Given the description of an element on the screen output the (x, y) to click on. 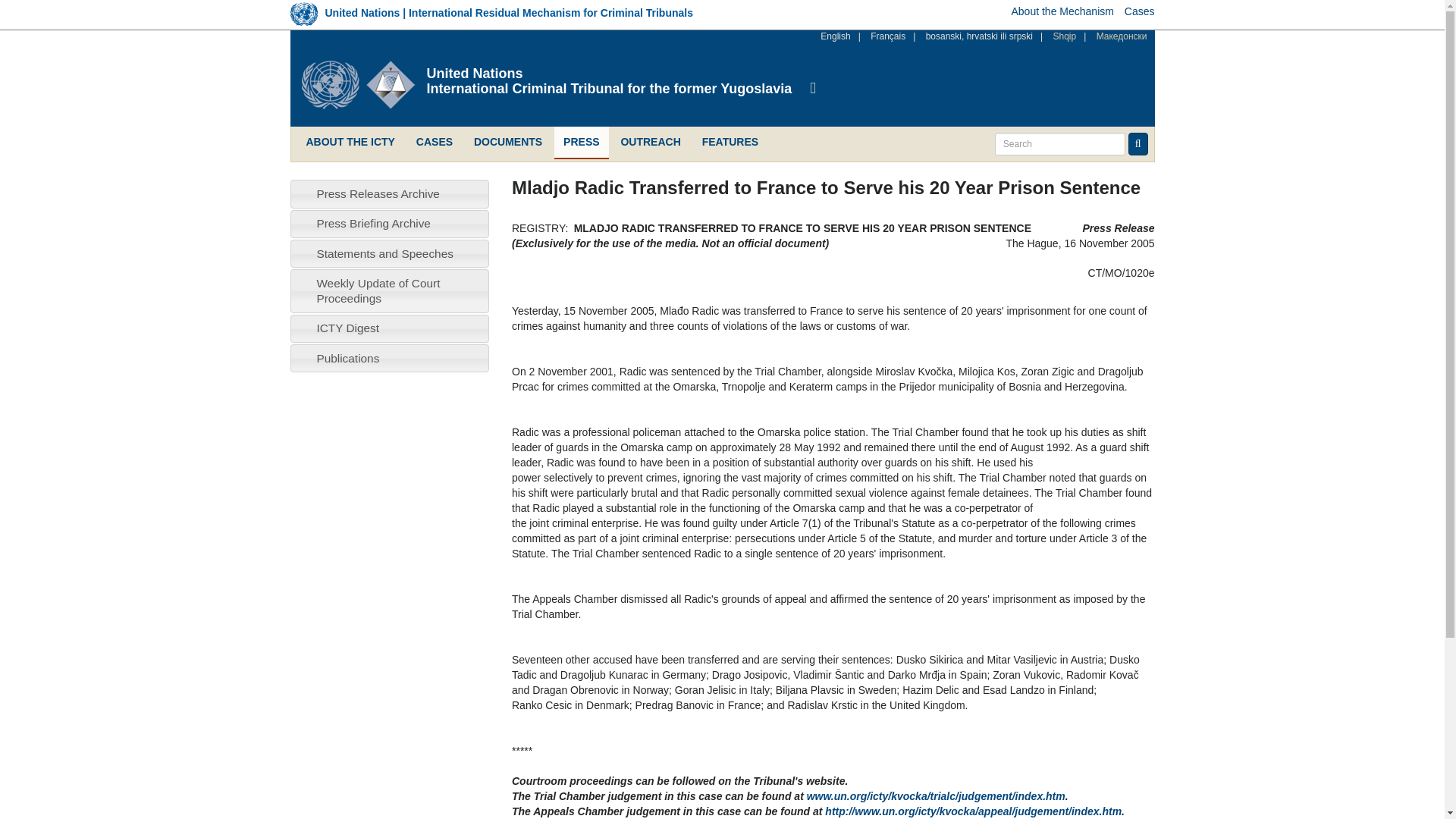
ICTY Digest (346, 327)
About the Mechanism (1062, 10)
FEATURES (730, 142)
CASES (434, 142)
Weekly Update of Court Proceedings (377, 290)
Home (363, 84)
Home (608, 73)
English (835, 36)
Statements and Speeches (383, 253)
